Given the description of an element on the screen output the (x, y) to click on. 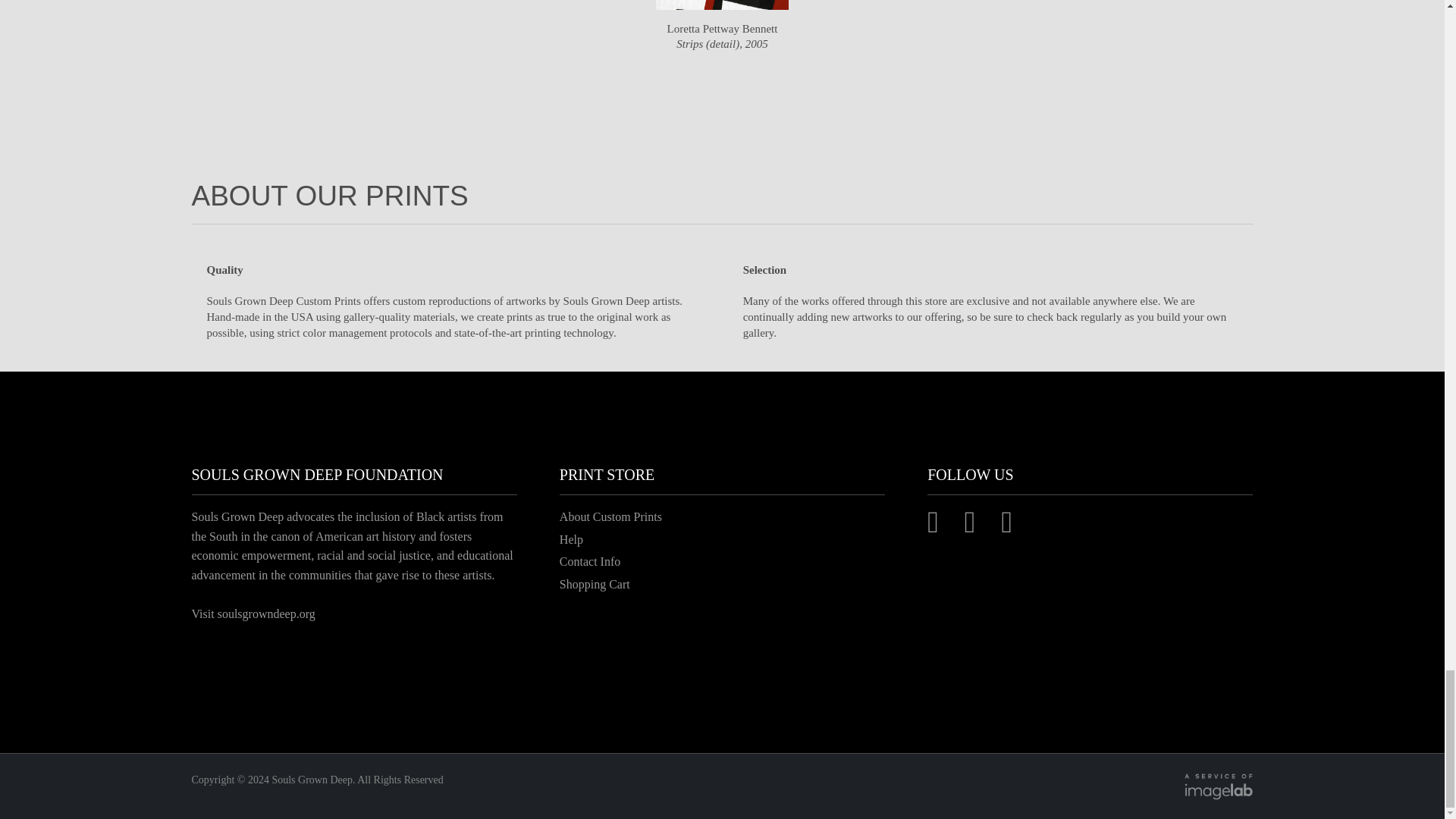
A Service of Imagelab Group (1214, 786)
